Given the description of an element on the screen output the (x, y) to click on. 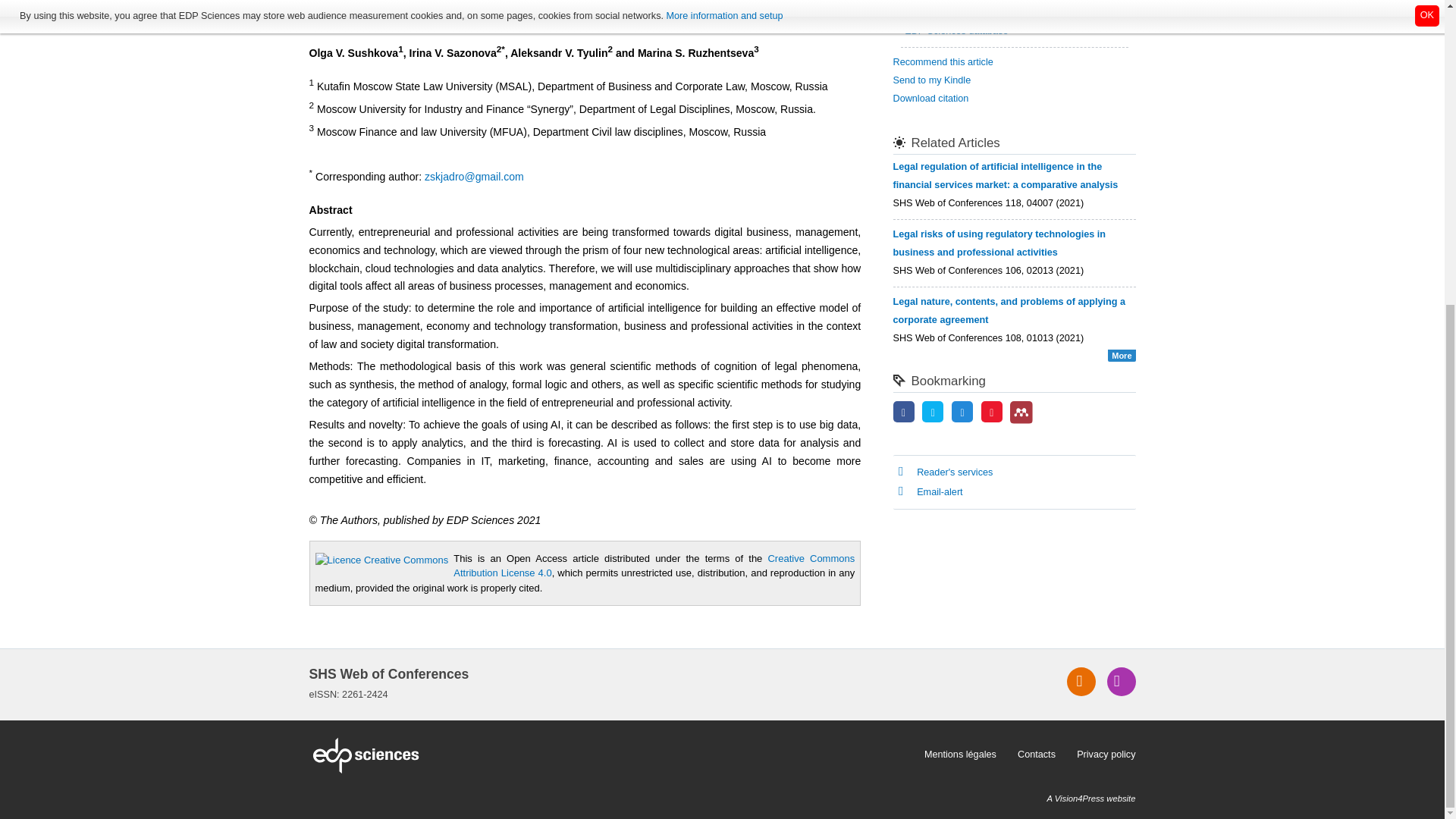
Mendeley (1021, 412)
